Given the description of an element on the screen output the (x, y) to click on. 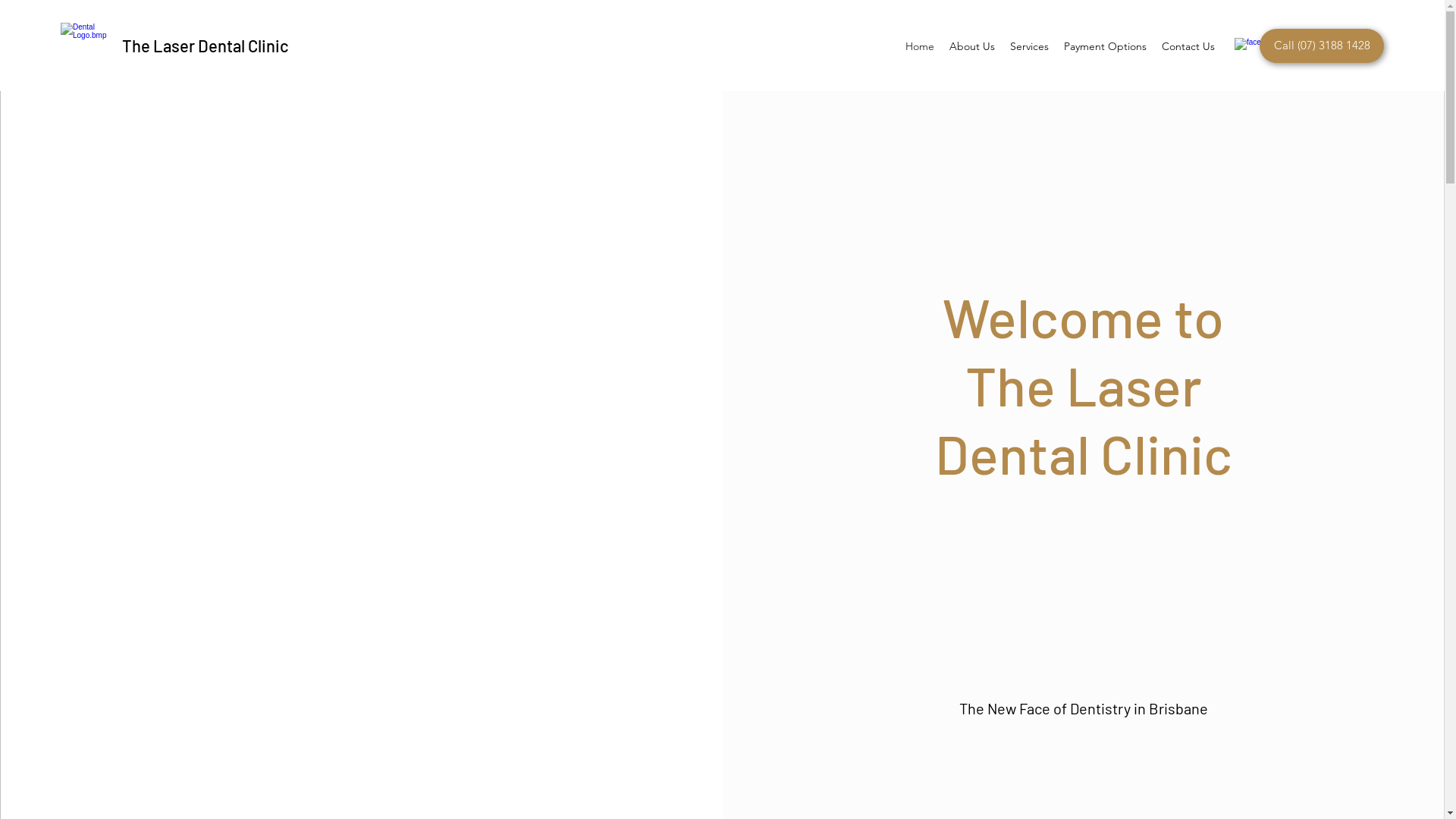
About Us Element type: text (971, 45)
Contact Us Element type: text (1188, 45)
Payment Options Element type: text (1105, 45)
Home Element type: text (919, 45)
Call (07) 3188 1428 Element type: text (1321, 45)
Services Element type: text (1029, 45)
